Given the description of an element on the screen output the (x, y) to click on. 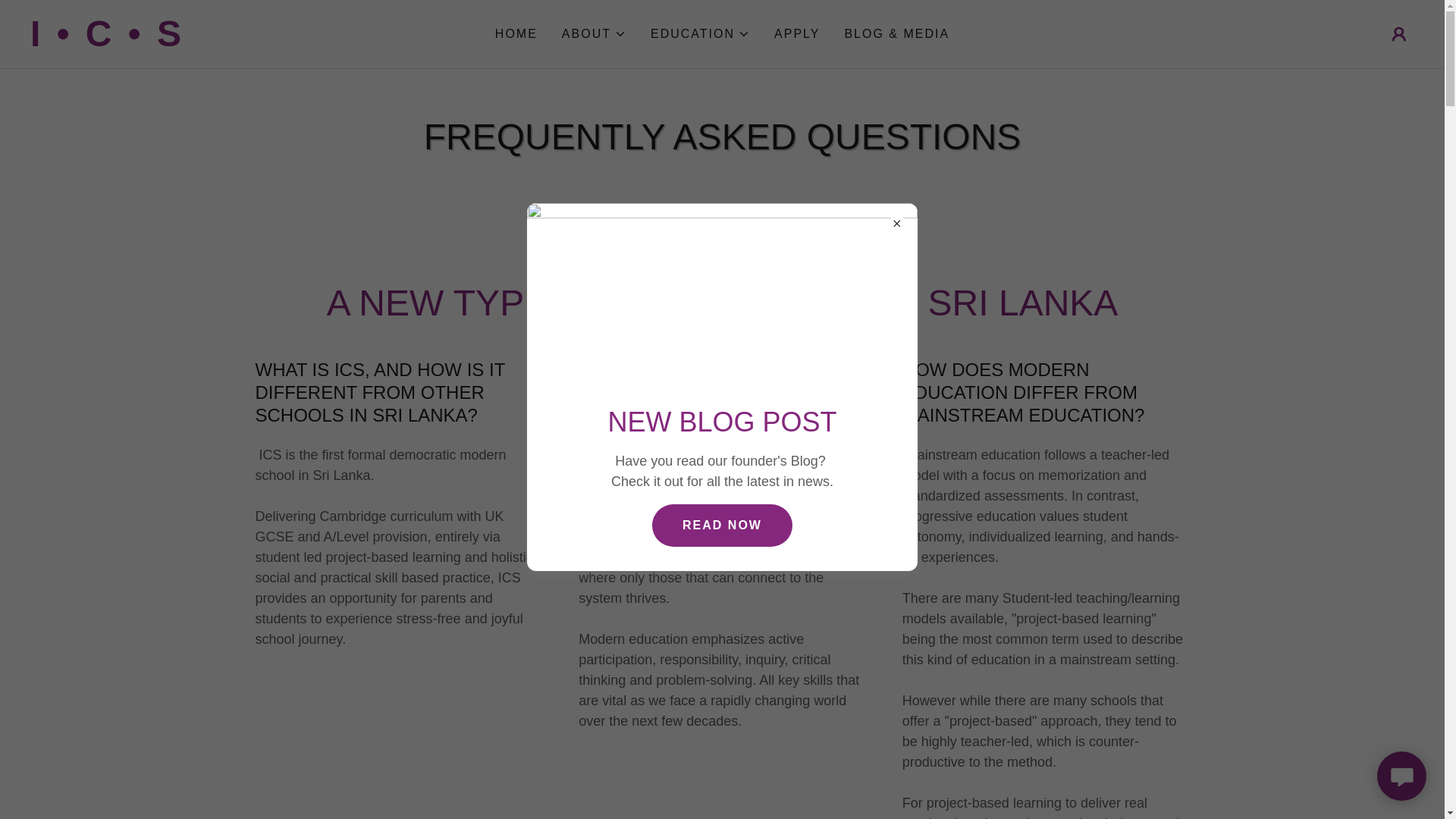
APPLY (797, 33)
EDUCATION (699, 34)
HOME (515, 33)
ABOUT (594, 34)
